Given the description of an element on the screen output the (x, y) to click on. 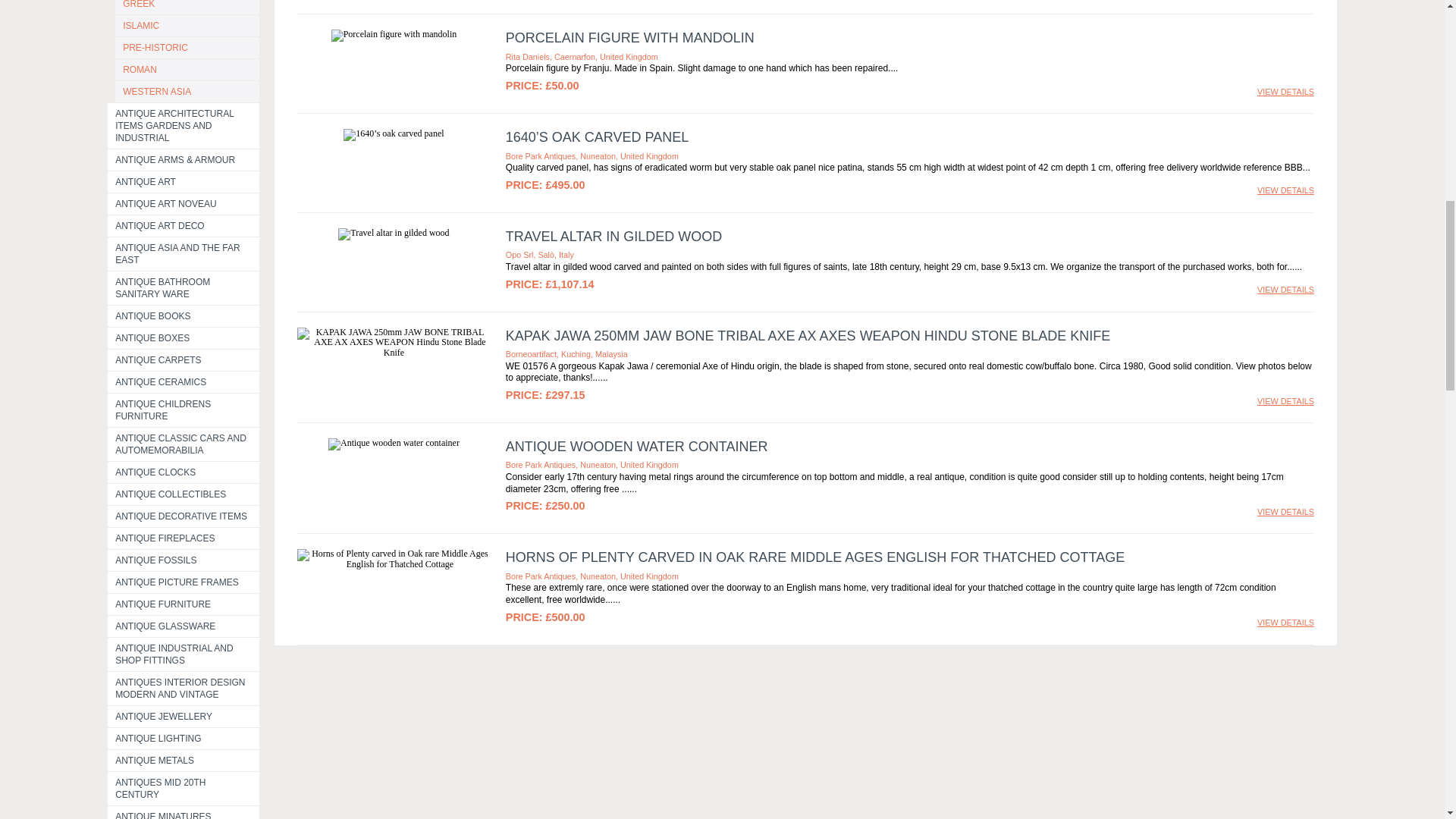
ROMAN (187, 69)
GREEK (187, 7)
PRE-HISTORIC (187, 47)
WESTERN ASIA (187, 91)
ISLAMIC (187, 25)
ANTIQUE ARCHITECTURAL ITEMS GARDENS AND INDUSTRIAL (183, 125)
